Given the description of an element on the screen output the (x, y) to click on. 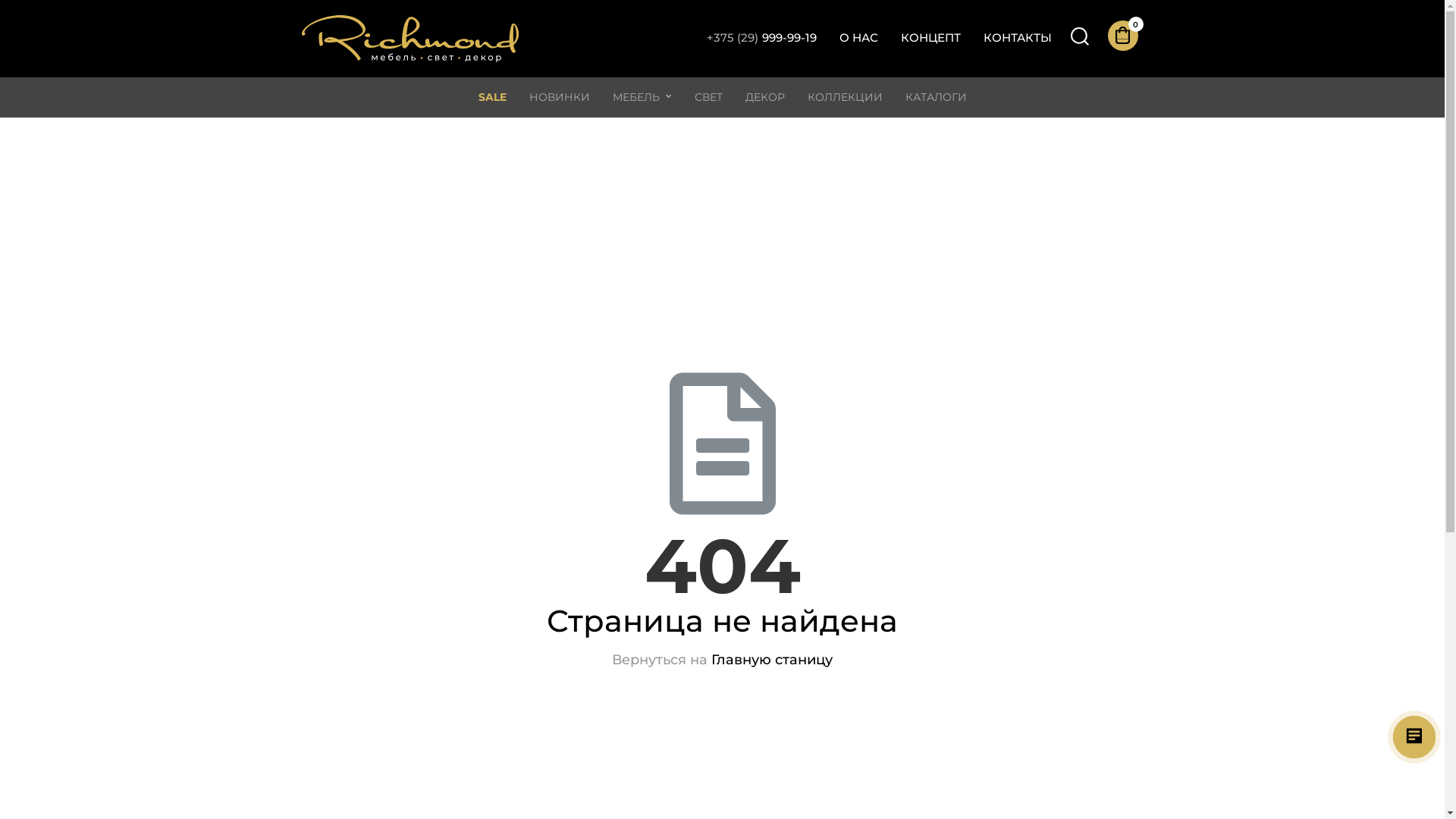
0 Element type: text (1124, 35)
SALE Element type: text (492, 97)
+375 (29)
999-99-19 Element type: text (761, 38)
